Given the description of an element on the screen output the (x, y) to click on. 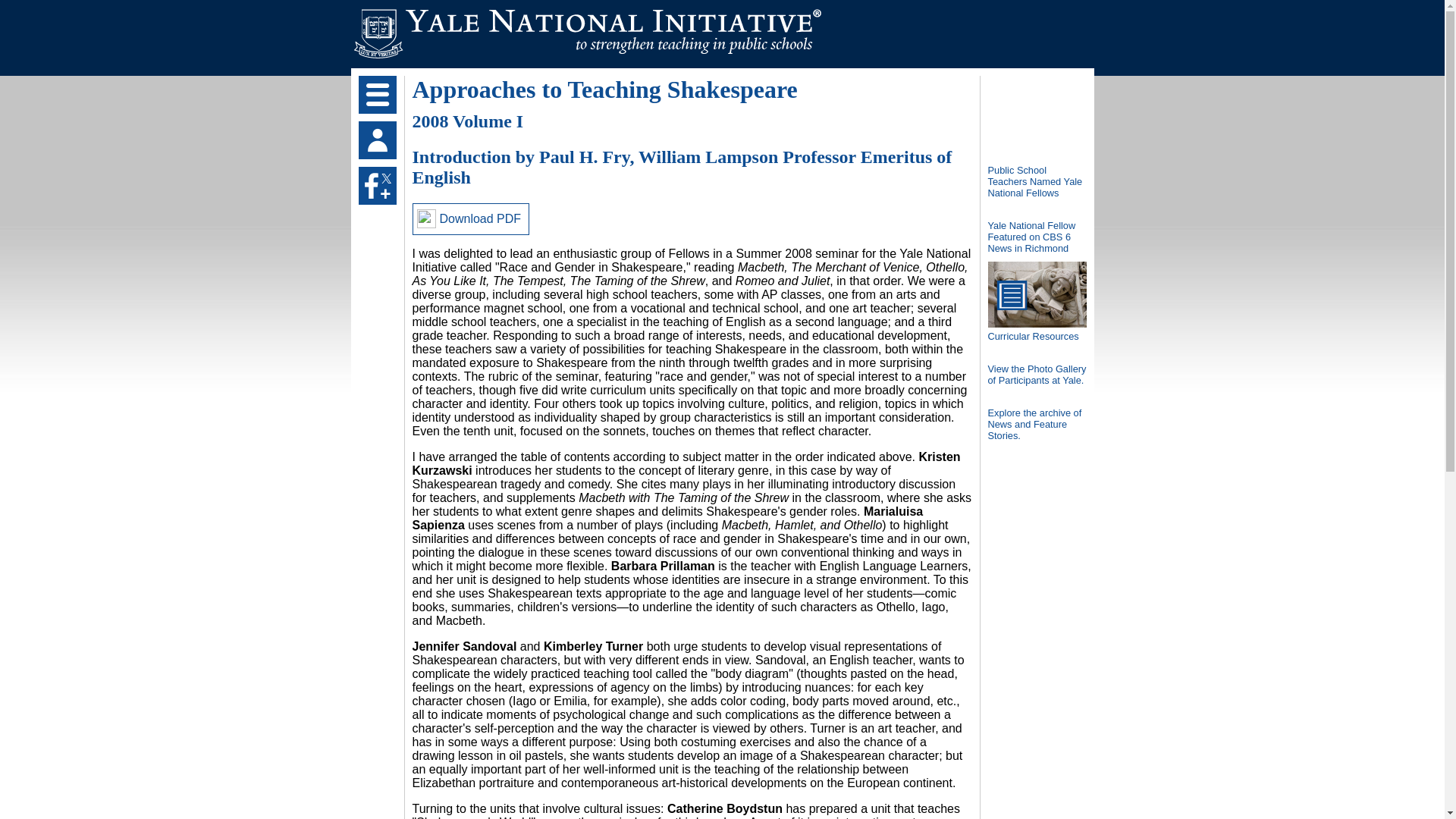
Yale National Fellow Featured on CBS 6 News in Richmond (1036, 243)
Curricular Resources (1036, 330)
View the Photo Gallery of Participants at Yale. (1036, 380)
Public School Teachers Named Yale National Fellows (1036, 175)
Explore the archive of News and Feature Stories. (1036, 430)
Download PDF (470, 219)
